Given the description of an element on the screen output the (x, y) to click on. 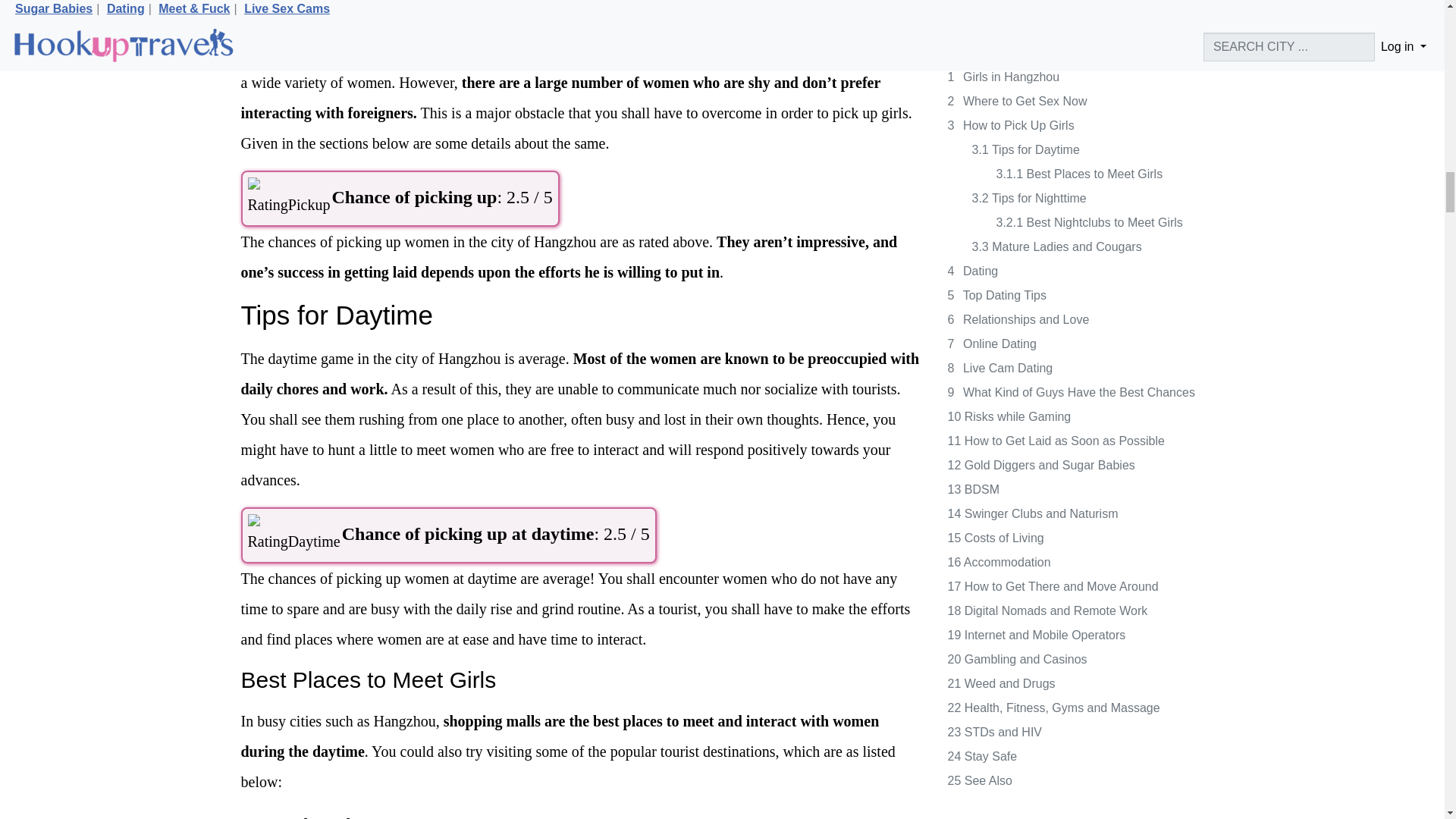
RatingDaytime (293, 535)
RatingPickup (288, 198)
